Given the description of an element on the screen output the (x, y) to click on. 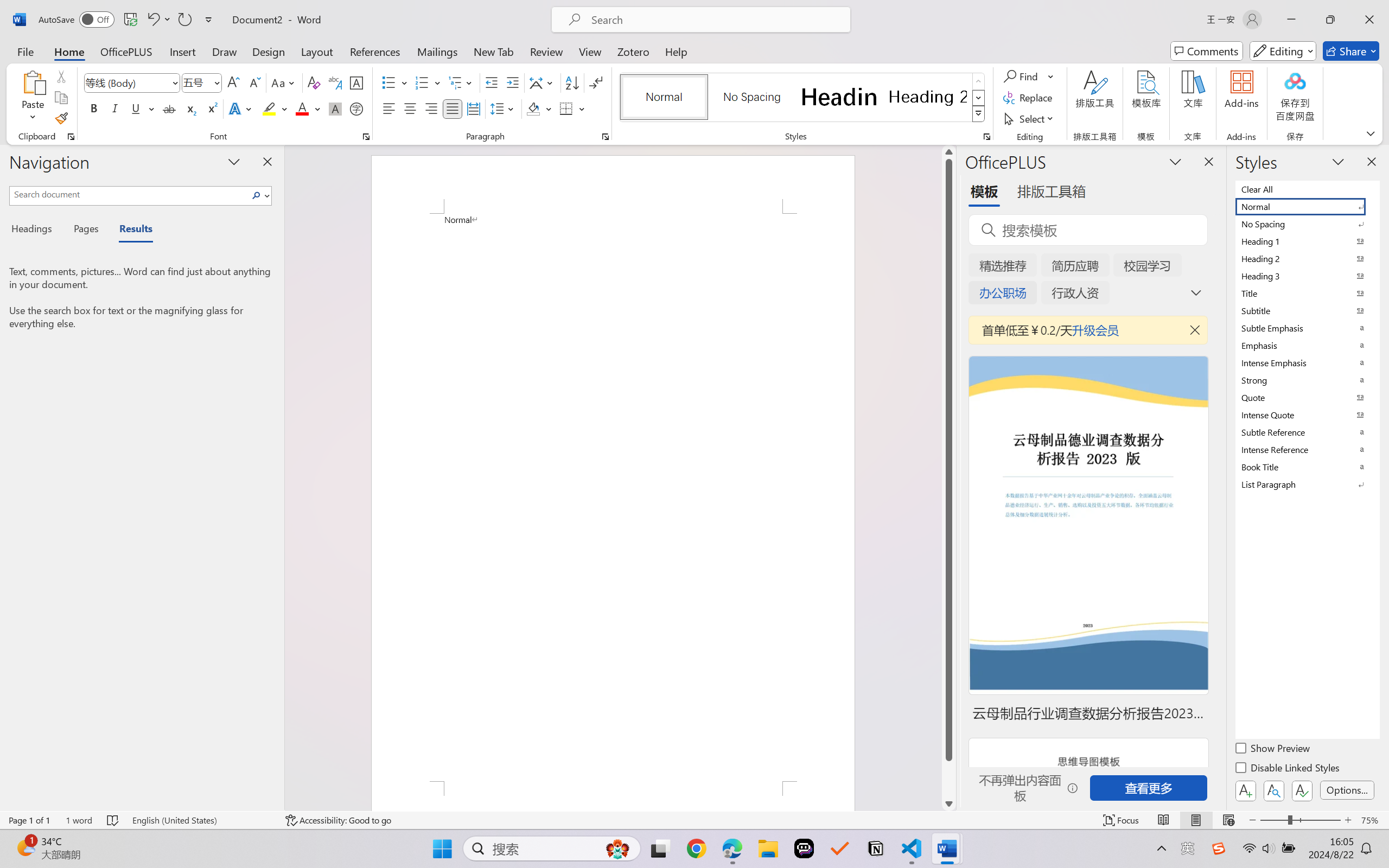
Search (256, 195)
Save (130, 19)
Multilevel List (461, 82)
Page down (948, 778)
Line up (948, 151)
Bullets (388, 82)
Help (675, 51)
Increase Indent (512, 82)
Subtitle (1306, 310)
Copy (60, 97)
Insert (182, 51)
Class: Image (1218, 847)
